Given the description of an element on the screen output the (x, y) to click on. 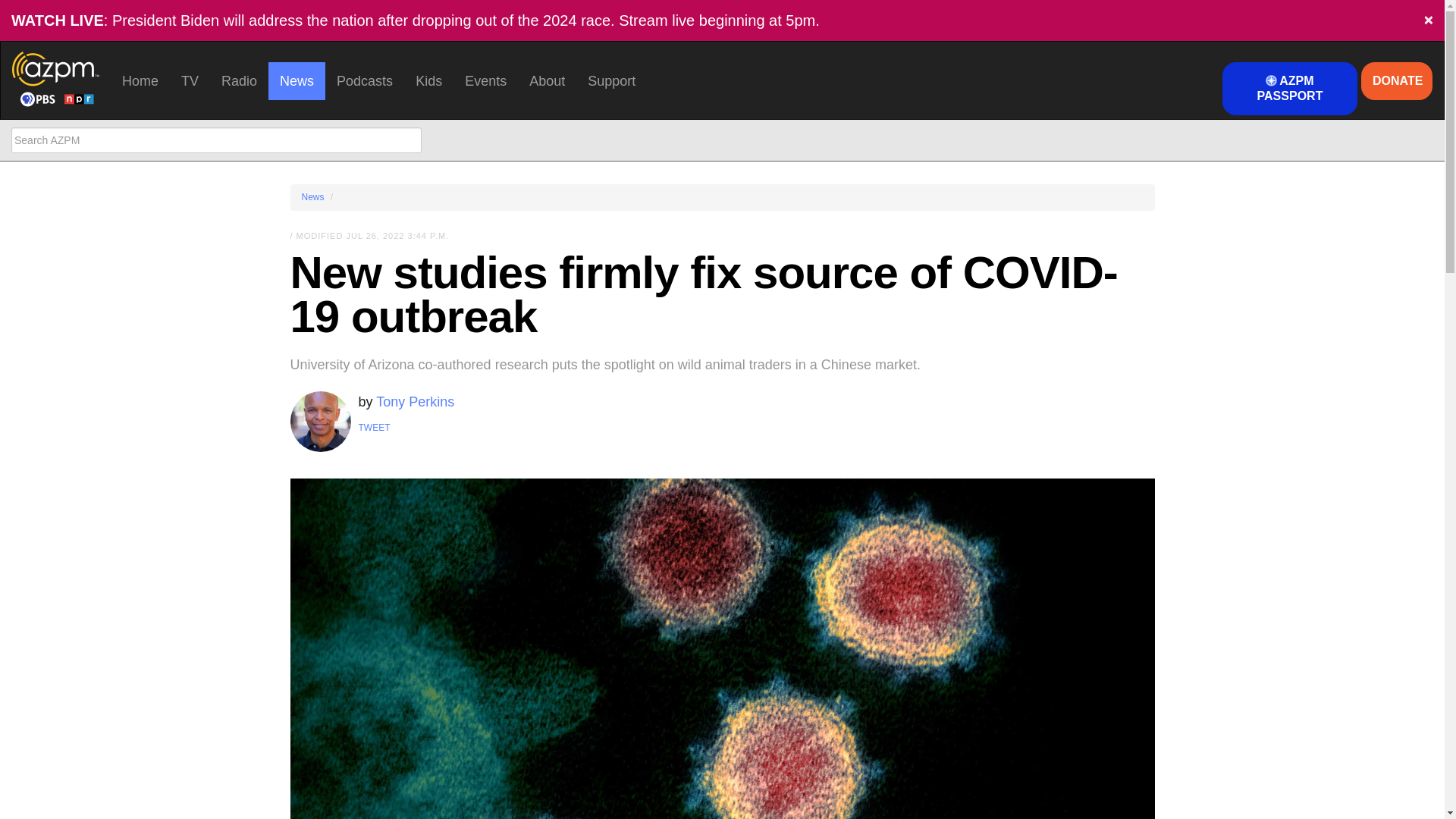
News (295, 80)
Home (140, 80)
Events (485, 80)
Podcasts (364, 80)
About (547, 80)
TV (189, 80)
Kids (428, 80)
Radio (238, 80)
